Given the description of an element on the screen output the (x, y) to click on. 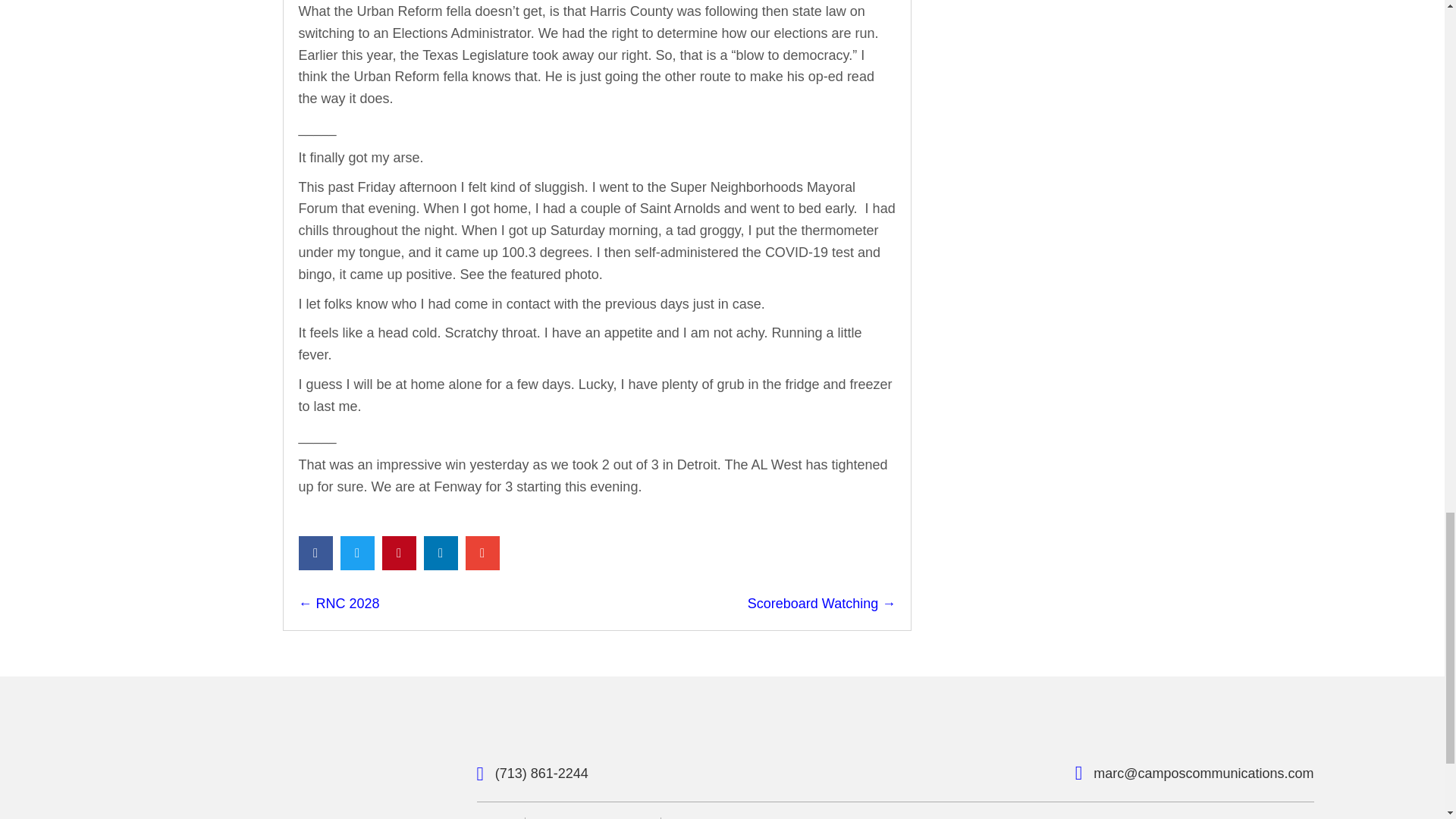
Contact Us (706, 818)
skyline9 (254, 747)
Daily Commentary (593, 818)
Home (494, 818)
